Given the description of an element on the screen output the (x, y) to click on. 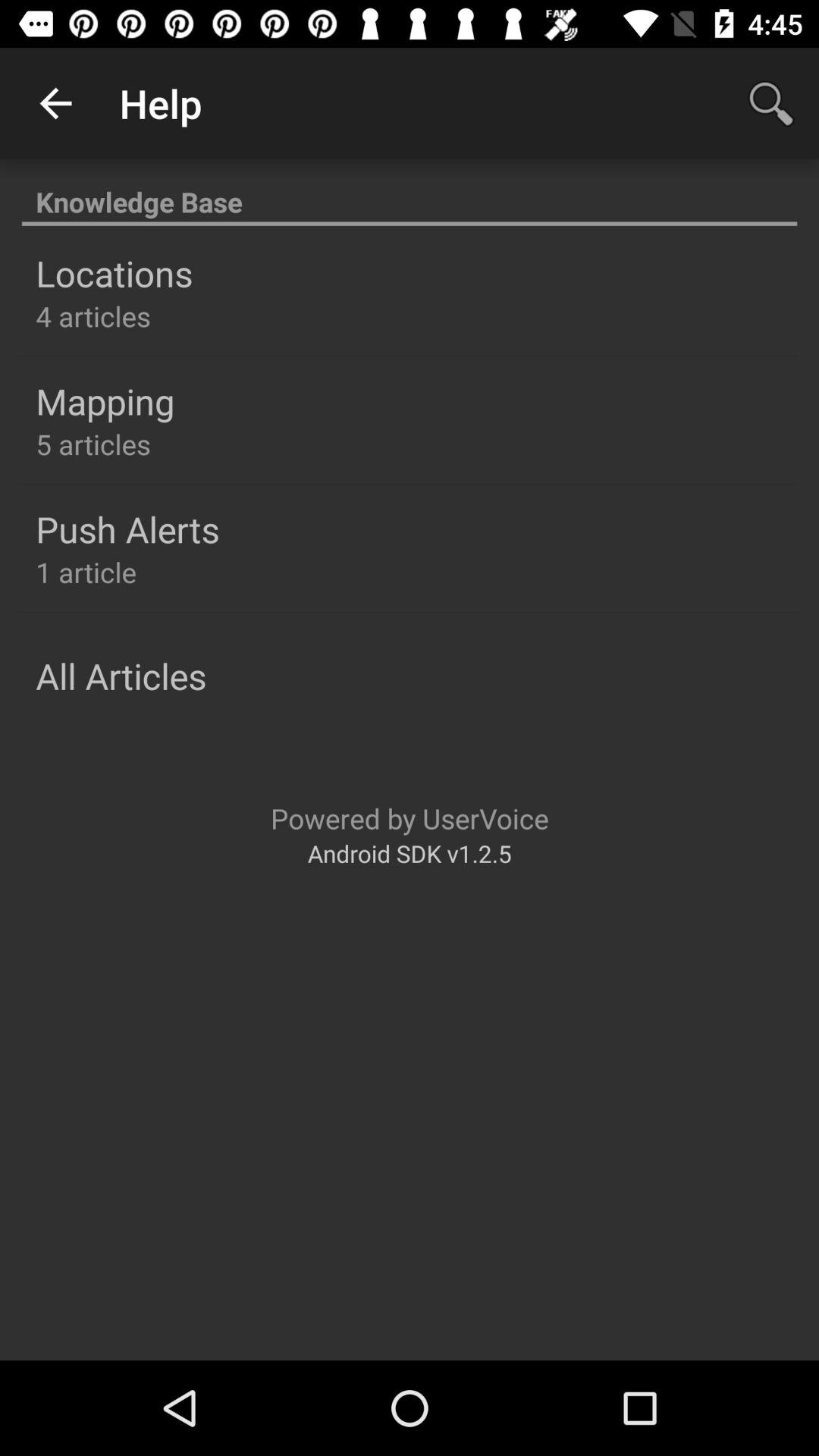
flip until the 5 articles (92, 443)
